Given the description of an element on the screen output the (x, y) to click on. 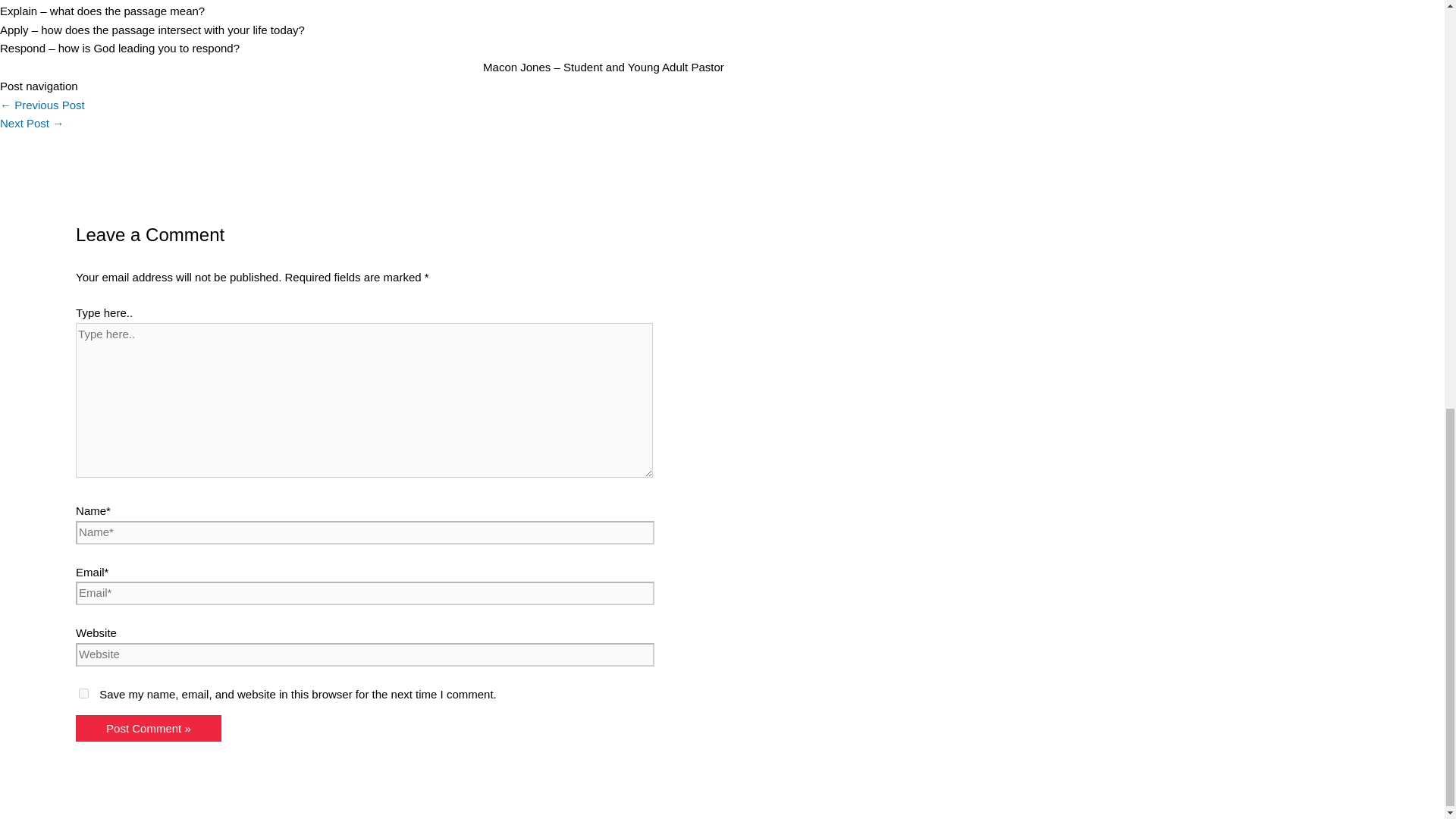
"He's nothing special, I grew up with him" (42, 104)
yes (83, 693)
"Happy to Help" (32, 123)
